Given the description of an element on the screen output the (x, y) to click on. 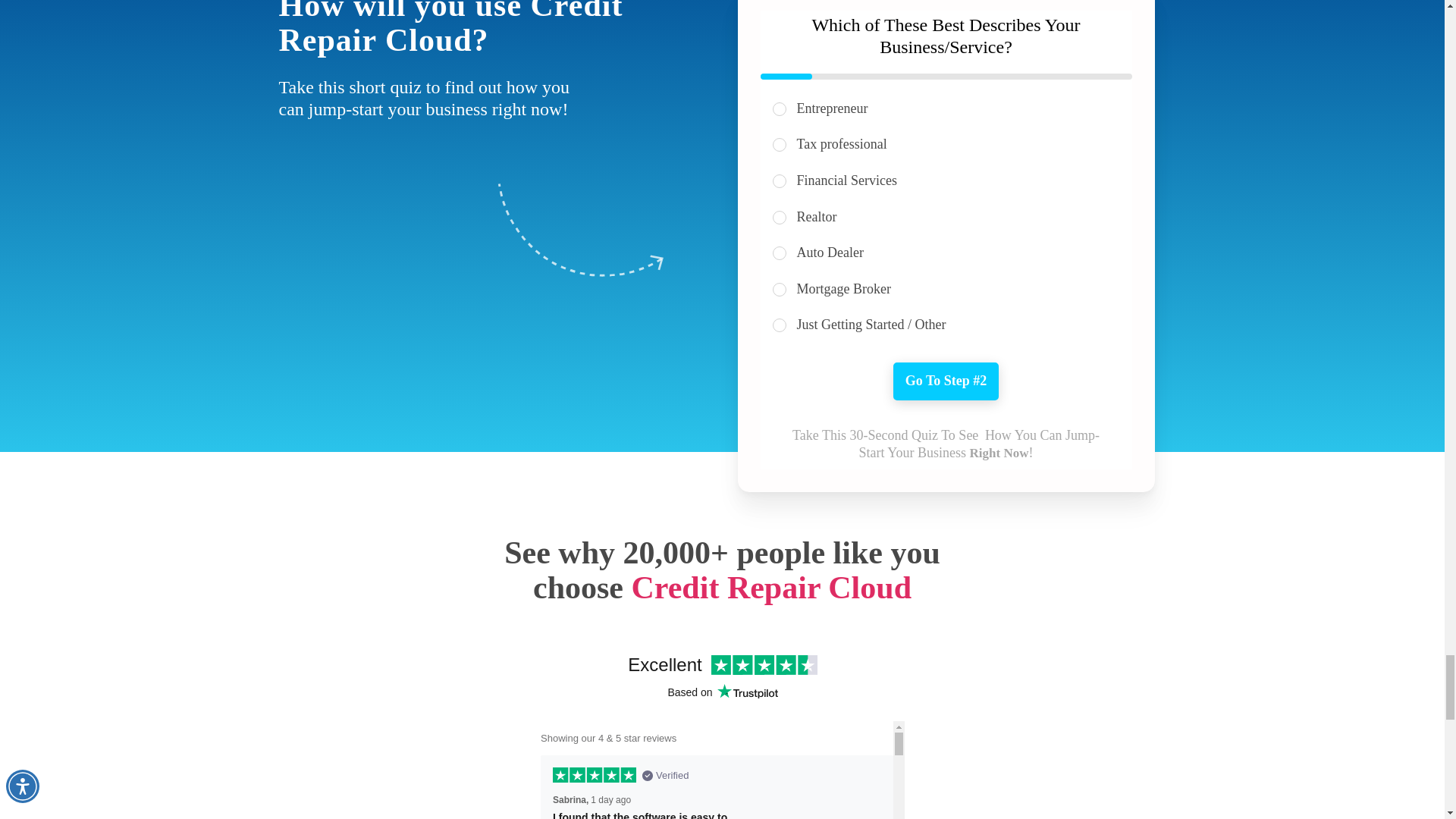
Customer reviews powered by Trustpilot (722, 730)
